Given the description of an element on the screen output the (x, y) to click on. 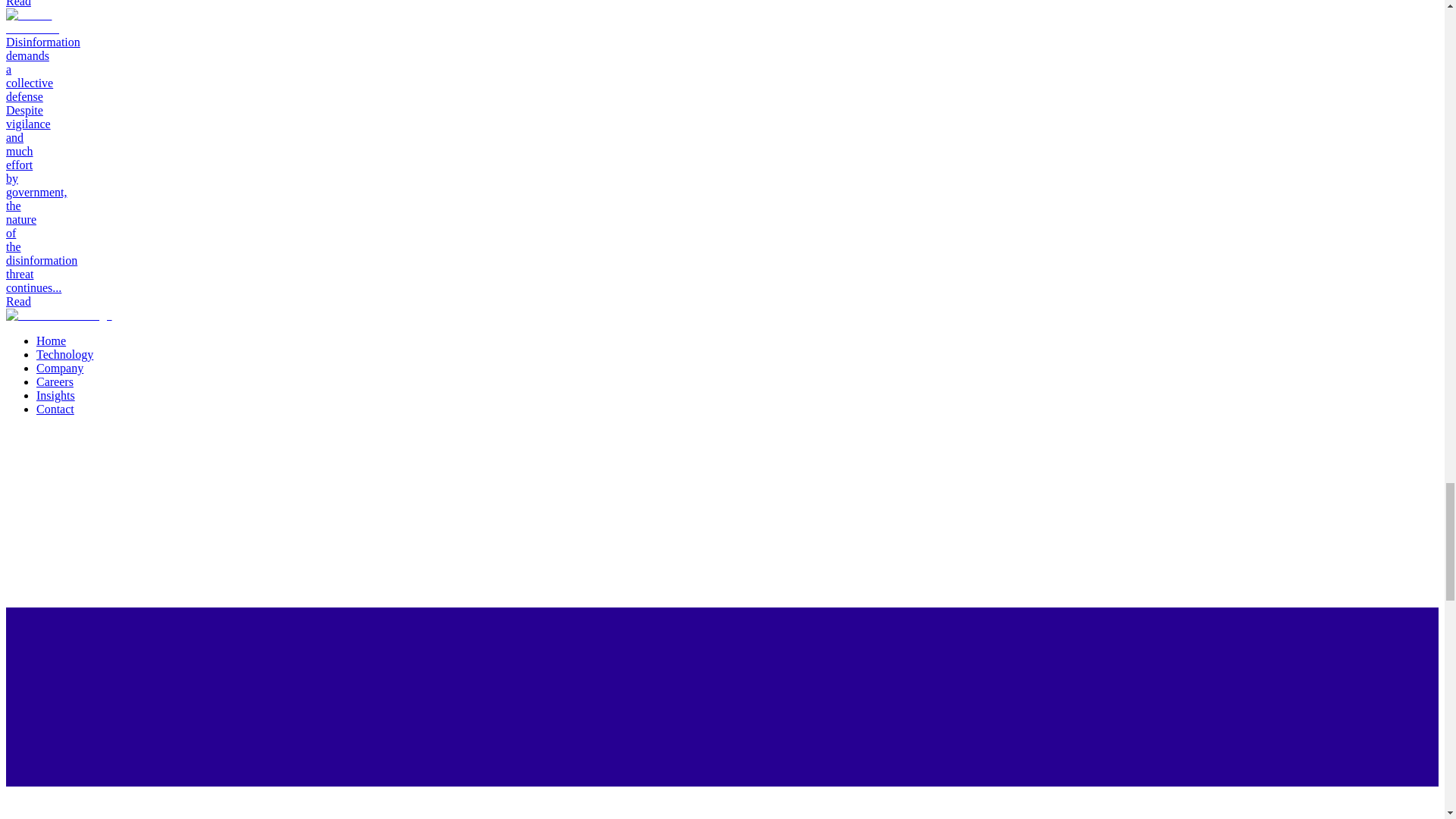
Careers (55, 381)
Insights (55, 395)
Technology (64, 354)
Contact (55, 408)
Home (50, 340)
Company (59, 367)
